Given the description of an element on the screen output the (x, y) to click on. 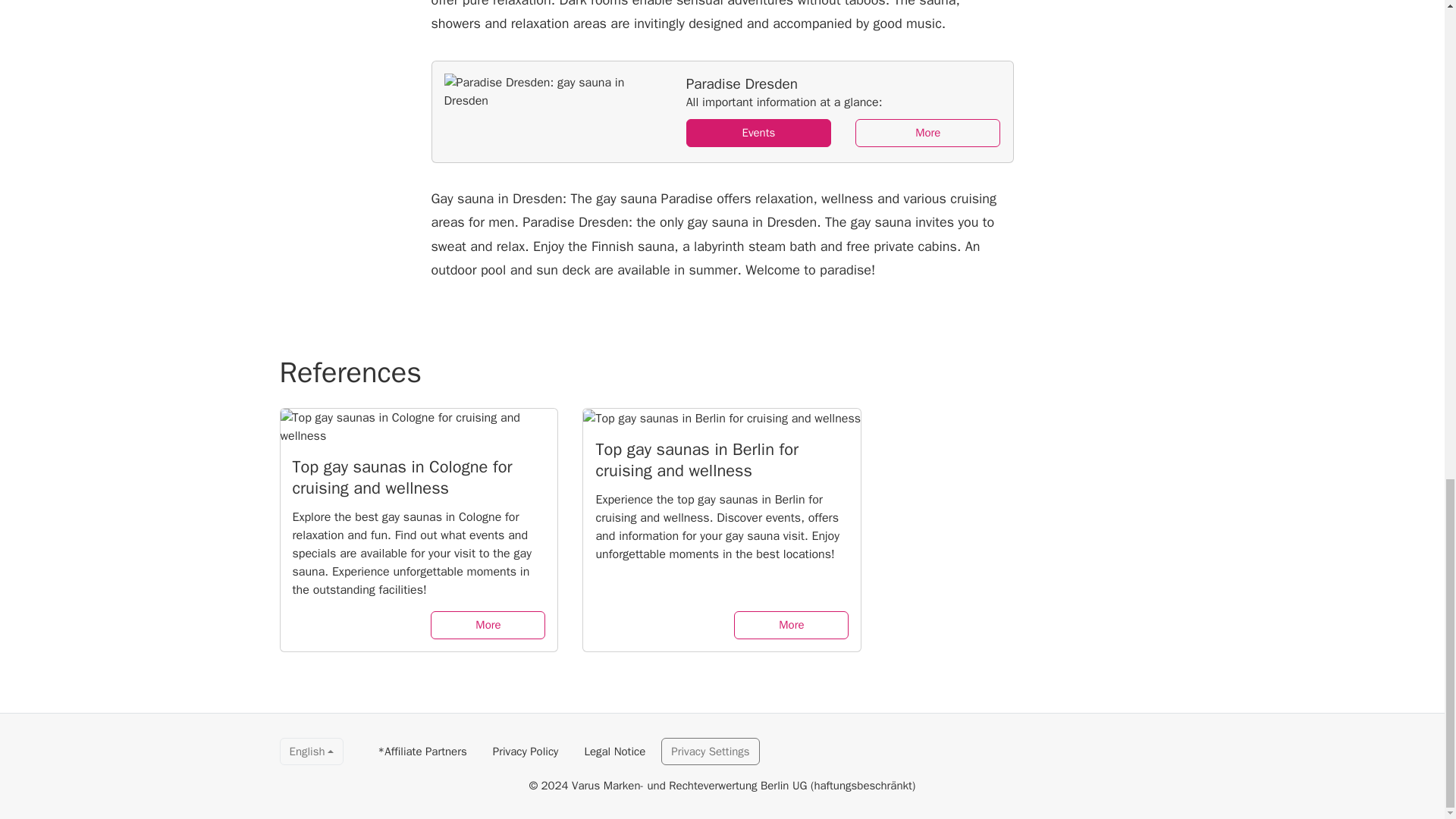
Events (758, 132)
Paradise Dresden (722, 111)
Paradise Dresden (928, 132)
Events (758, 132)
More (790, 624)
More (928, 132)
More (487, 624)
English (311, 751)
